Given the description of an element on the screen output the (x, y) to click on. 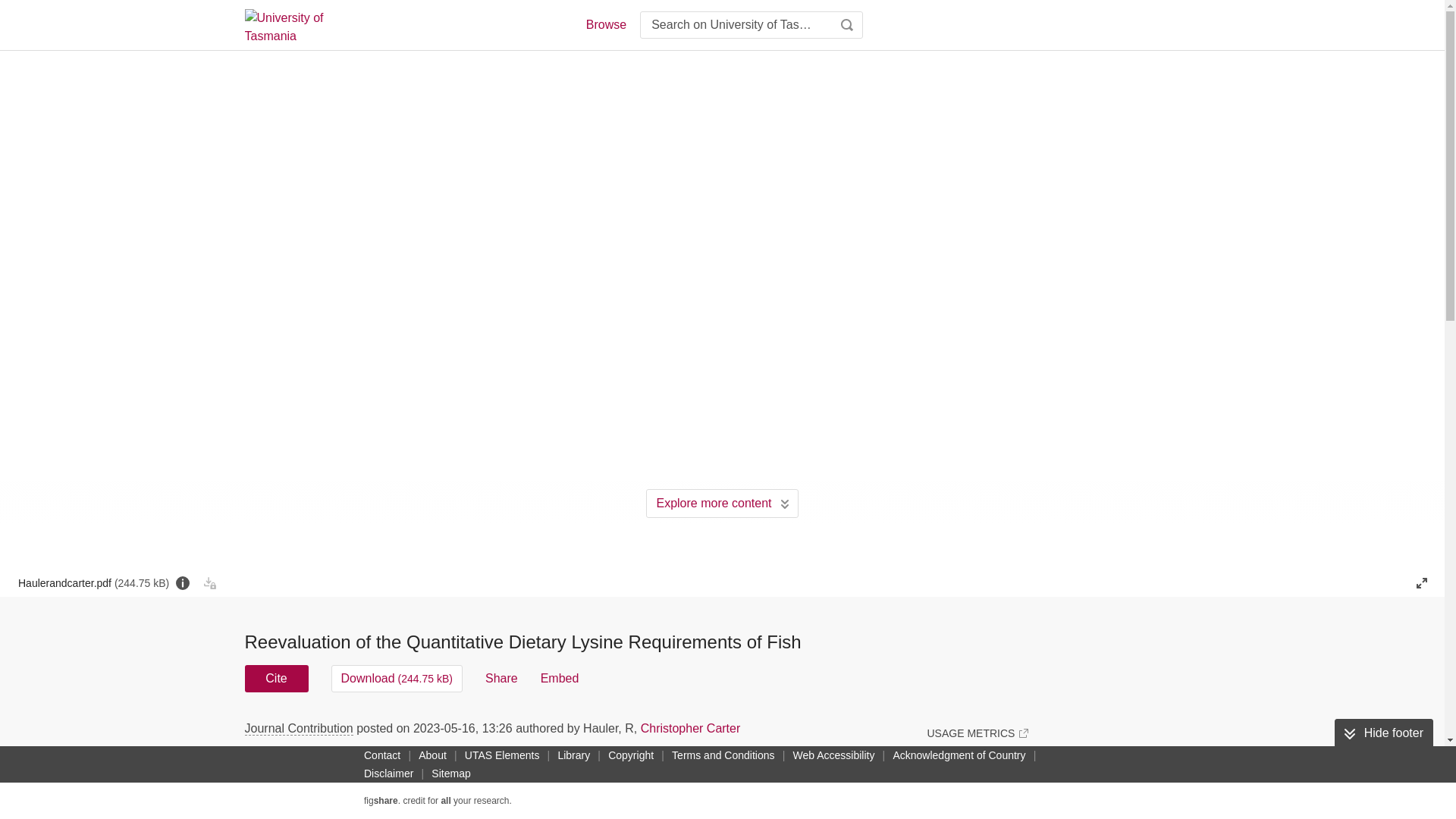
UTAS Elements (502, 755)
Embed (559, 678)
Browse (605, 24)
Christopher Carter (690, 727)
Share (501, 678)
Contact (381, 755)
Web Accessibility (834, 755)
Terms and Conditions (722, 755)
Copyright (631, 755)
USAGE METRICS (976, 732)
Cite (275, 678)
About (432, 755)
Acknowledgment of Country (958, 755)
Disclaimer (388, 773)
Sitemap (450, 773)
